Given the description of an element on the screen output the (x, y) to click on. 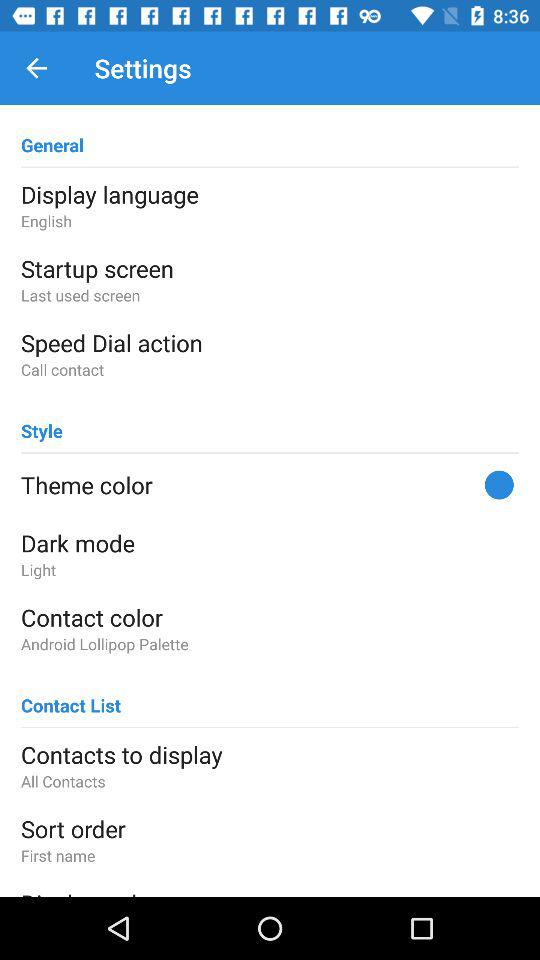
press general (52, 136)
